Given the description of an element on the screen output the (x, y) to click on. 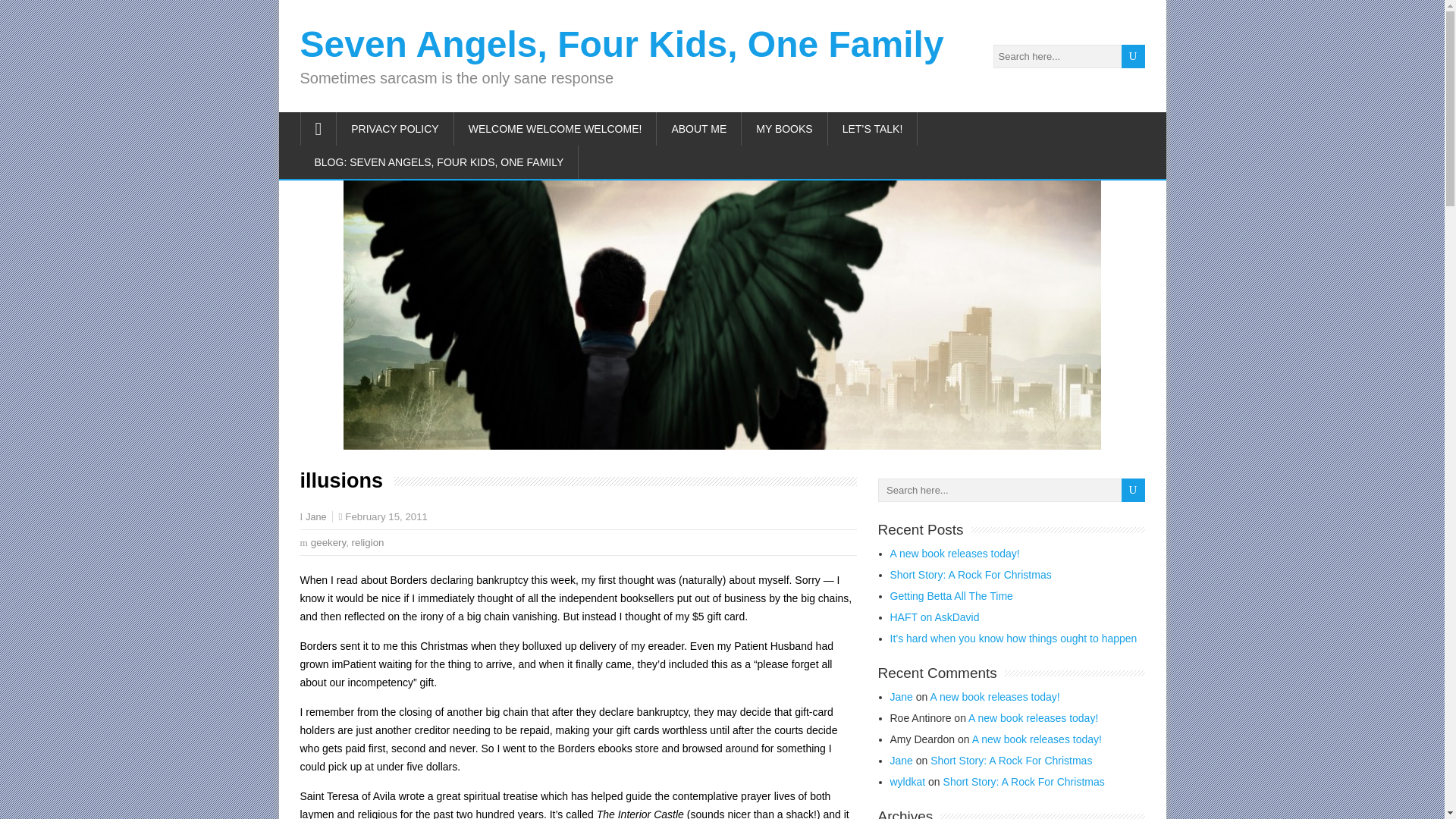
religion (368, 542)
U (1132, 56)
U (1132, 56)
Jane (900, 696)
A new book releases today! (954, 553)
ABOUT ME (698, 128)
BLOG: SEVEN ANGELS, FOUR KIDS, ONE FAMILY (439, 162)
Jane (315, 516)
WELCOME WELCOME WELCOME! (556, 128)
Seven Angels, Four Kids, One Family (621, 44)
HAFT on AskDavid (934, 616)
Getting Betta All The Time (951, 595)
U (1132, 56)
MY BOOKS (784, 128)
Posts by Jane (315, 516)
